Given the description of an element on the screen output the (x, y) to click on. 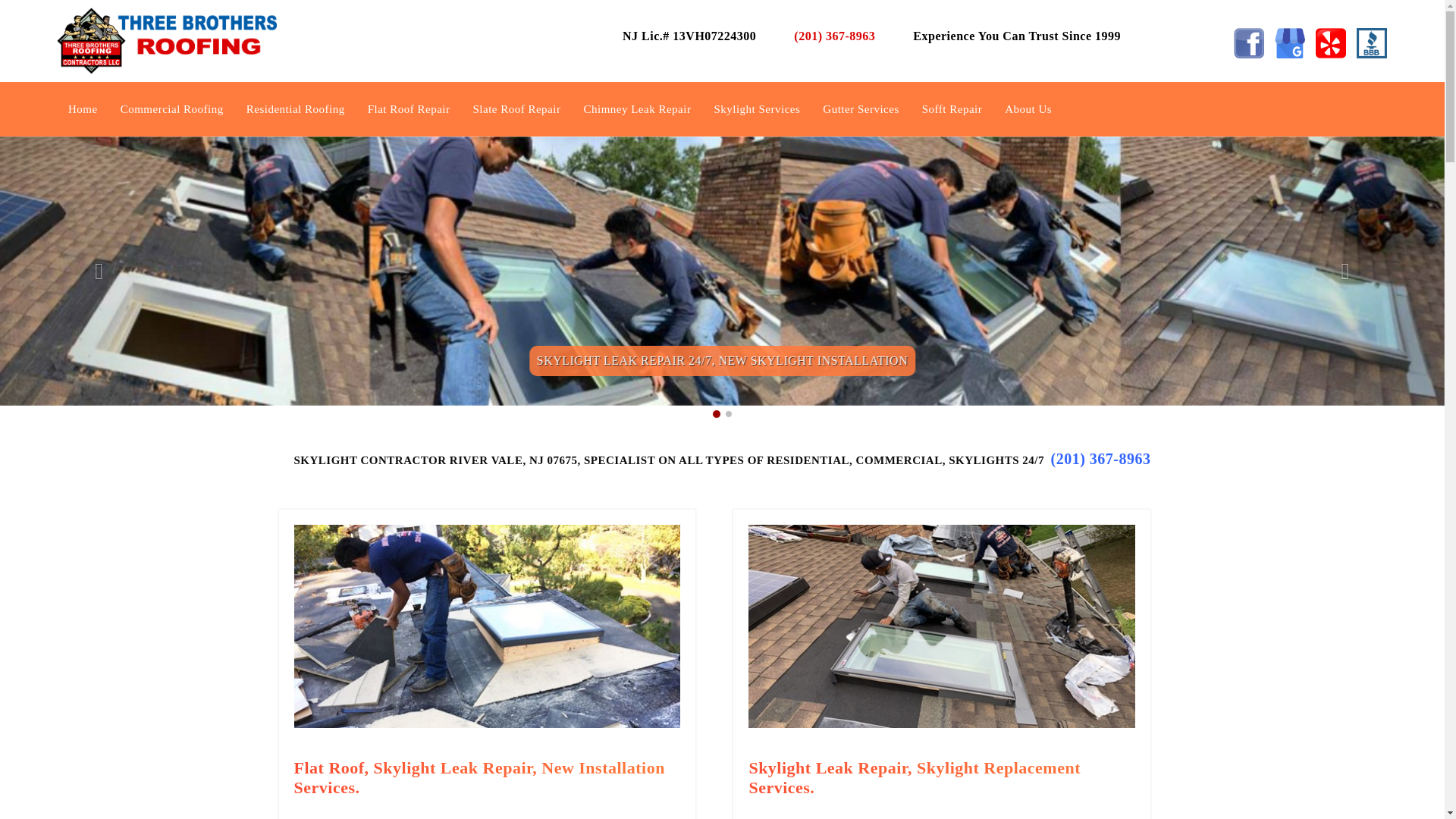
Social Media (1330, 42)
Home (82, 109)
Commercial Roofing (172, 109)
Slate Roof Repair (515, 109)
Slate Roof Repair (515, 109)
Experience You Can Trust Since 1999  (1018, 36)
Skylight Services (757, 109)
Gutter Services (860, 109)
About Us (1028, 109)
Social Media (1248, 42)
Residential Roofing (295, 109)
Flat Roof Repair (408, 109)
Social Media (1371, 42)
Social Media (1289, 42)
